Given the description of an element on the screen output the (x, y) to click on. 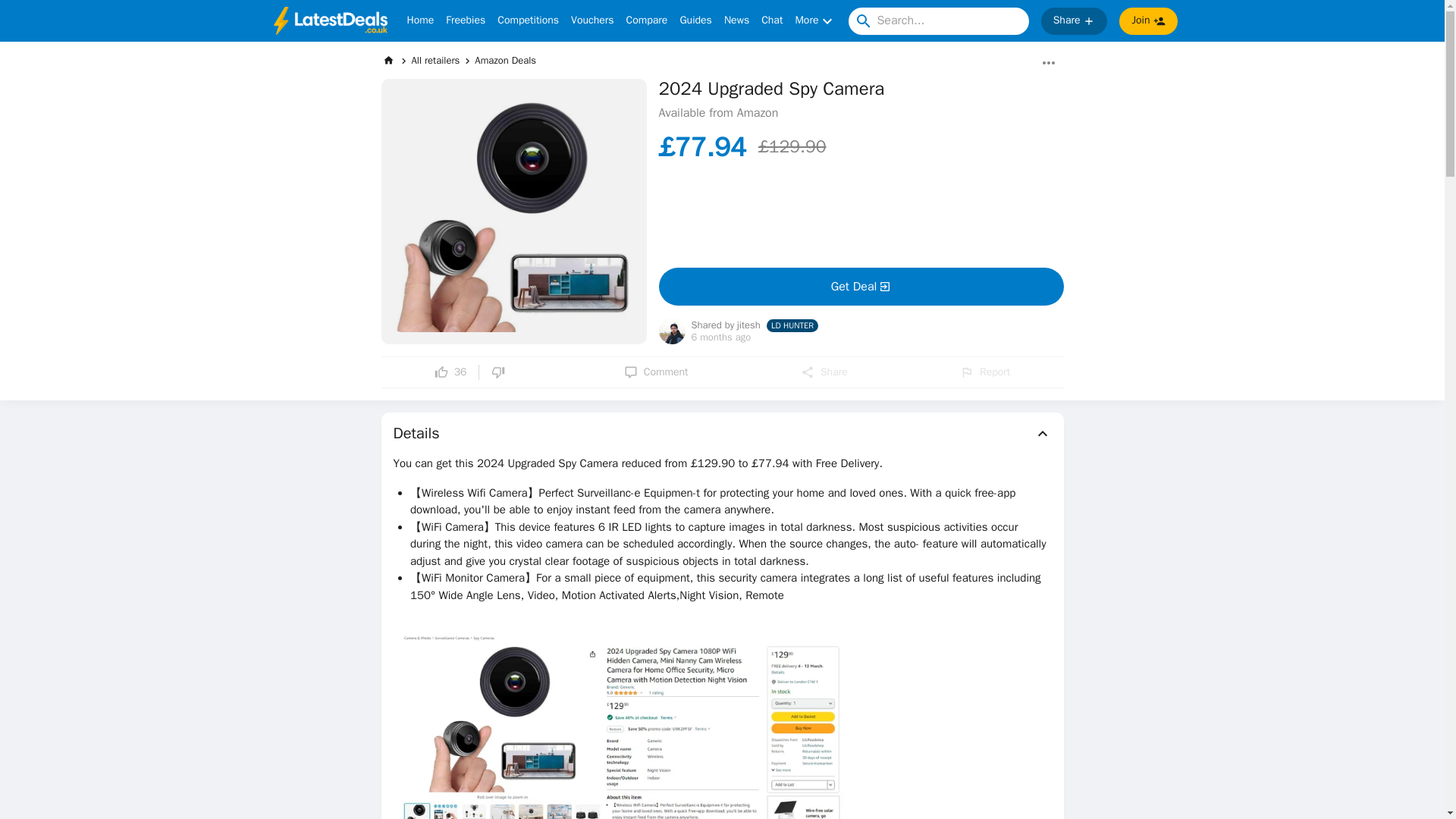
Share (823, 371)
Home (419, 21)
Comment (656, 371)
Vouchers (591, 21)
More (814, 21)
Details (722, 434)
All retailers (435, 60)
Join (1147, 21)
News (736, 21)
36 (450, 372)
